Given the description of an element on the screen output the (x, y) to click on. 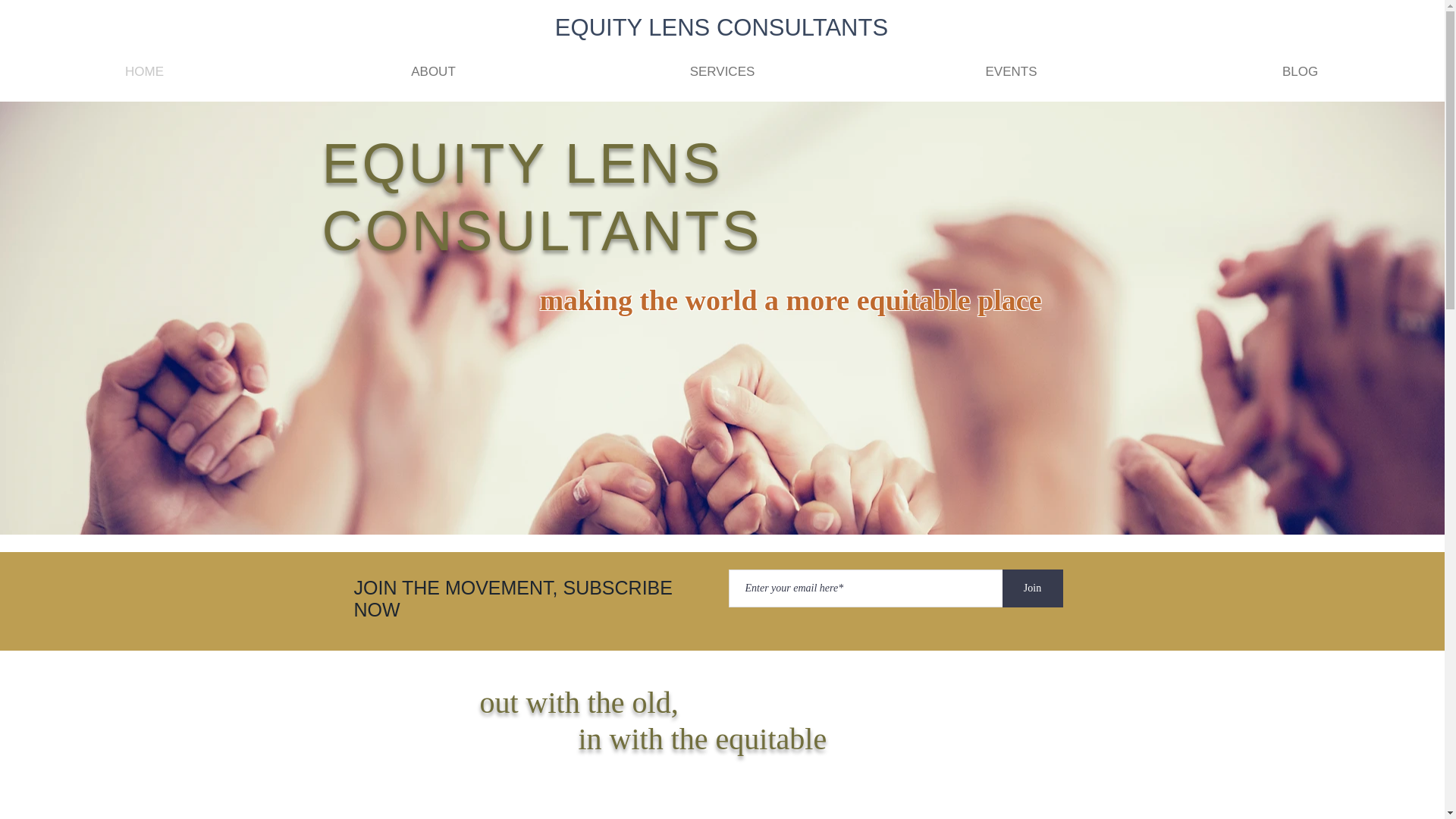
ABOUT (433, 71)
Join (1032, 588)
HOME (144, 71)
SERVICES (722, 71)
EQUITY LENS CONSULTANTS (721, 27)
EVENTS (1011, 71)
